Given the description of an element on the screen output the (x, y) to click on. 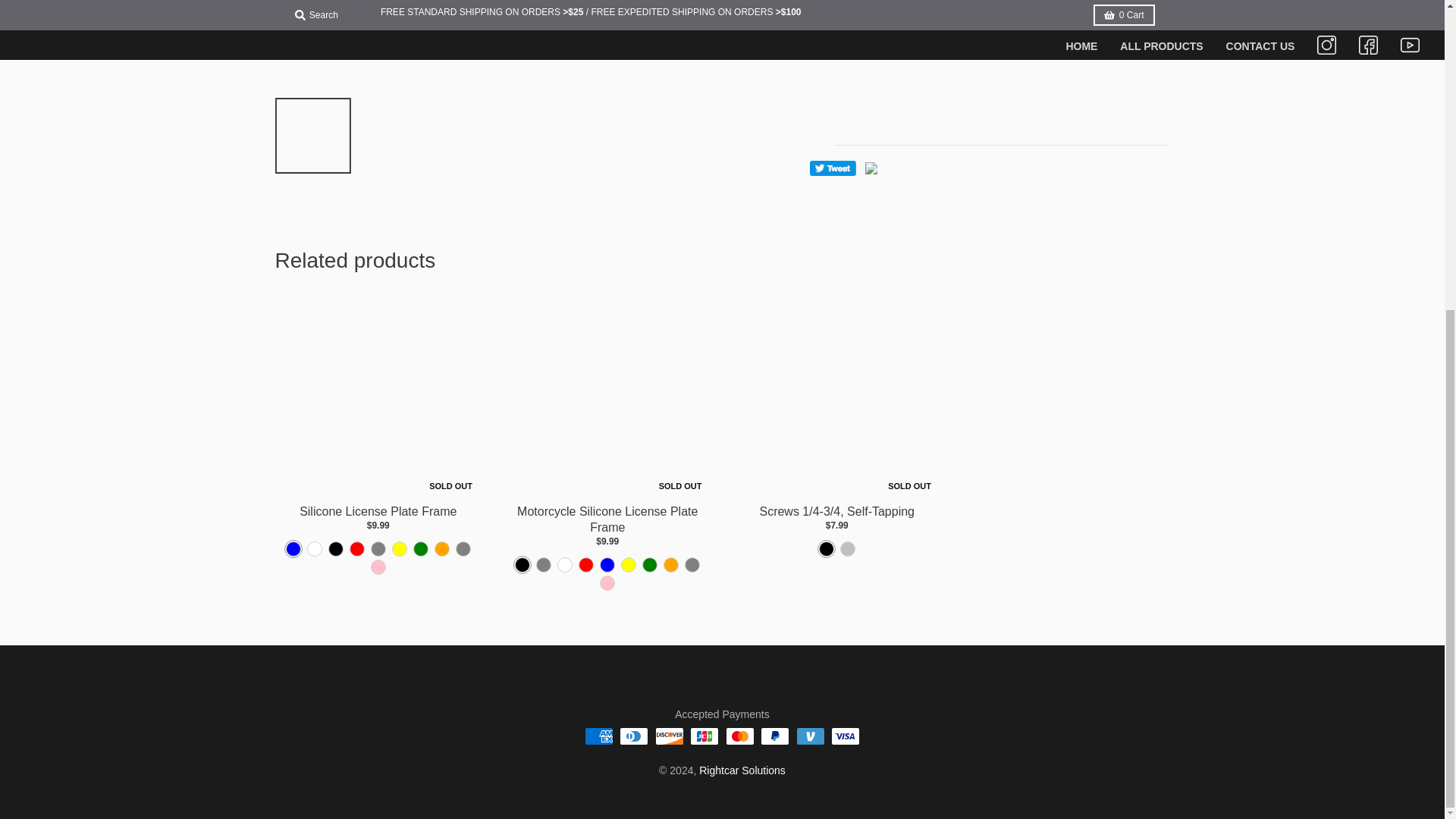
Black (335, 548)
Pink (378, 566)
Green (420, 548)
Blue (292, 548)
YouTube video player (1001, 56)
Yellow (399, 548)
Black (522, 565)
Red (356, 548)
Aqua Blue (462, 548)
Orange (441, 548)
Grey (543, 565)
White (314, 548)
Grey (378, 548)
